Given the description of an element on the screen output the (x, y) to click on. 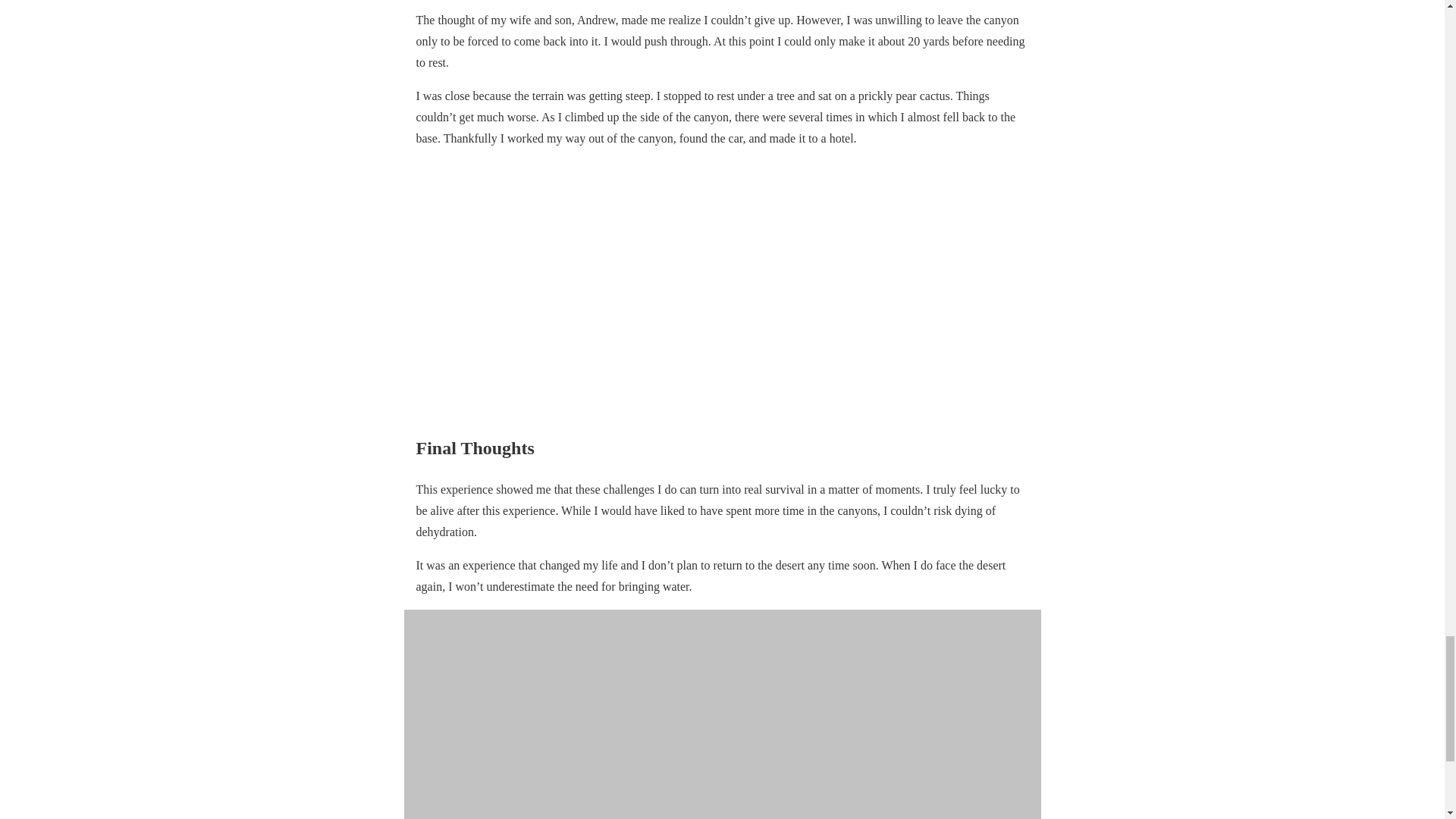
Stranded in the Desert - Survival Dispatch Insider (722, 714)
